Given the description of an element on the screen output the (x, y) to click on. 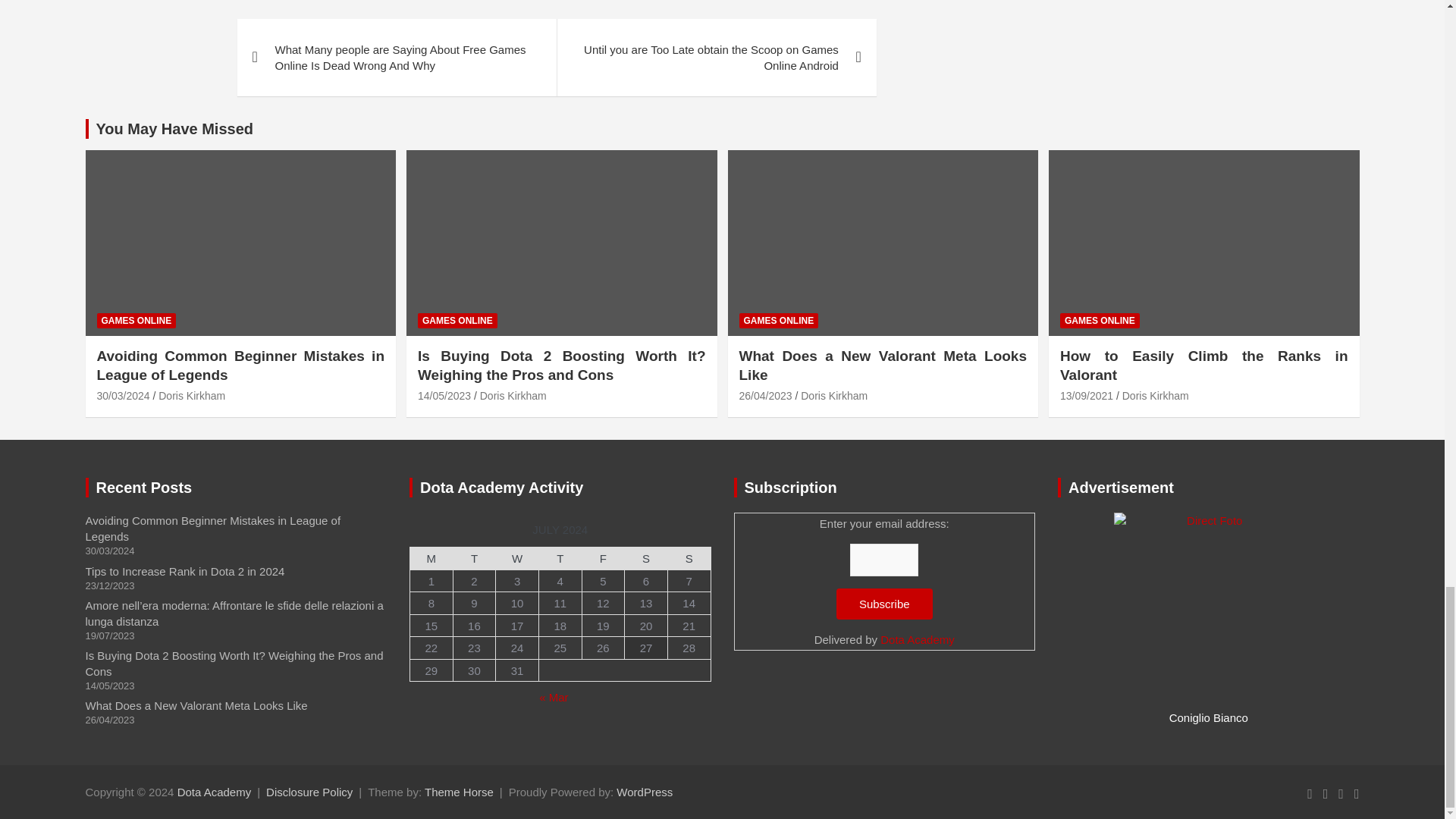
Wednesday (517, 558)
How to Easily Climb the Ranks in Valorant (1086, 395)
Monday (430, 558)
Avoiding Common Beginner Mistakes in League of Legends (123, 395)
Thursday (559, 558)
Tuesday (474, 558)
Subscribe (884, 603)
What Does a New Valorant Meta Looks Like (765, 395)
